Given the description of an element on the screen output the (x, y) to click on. 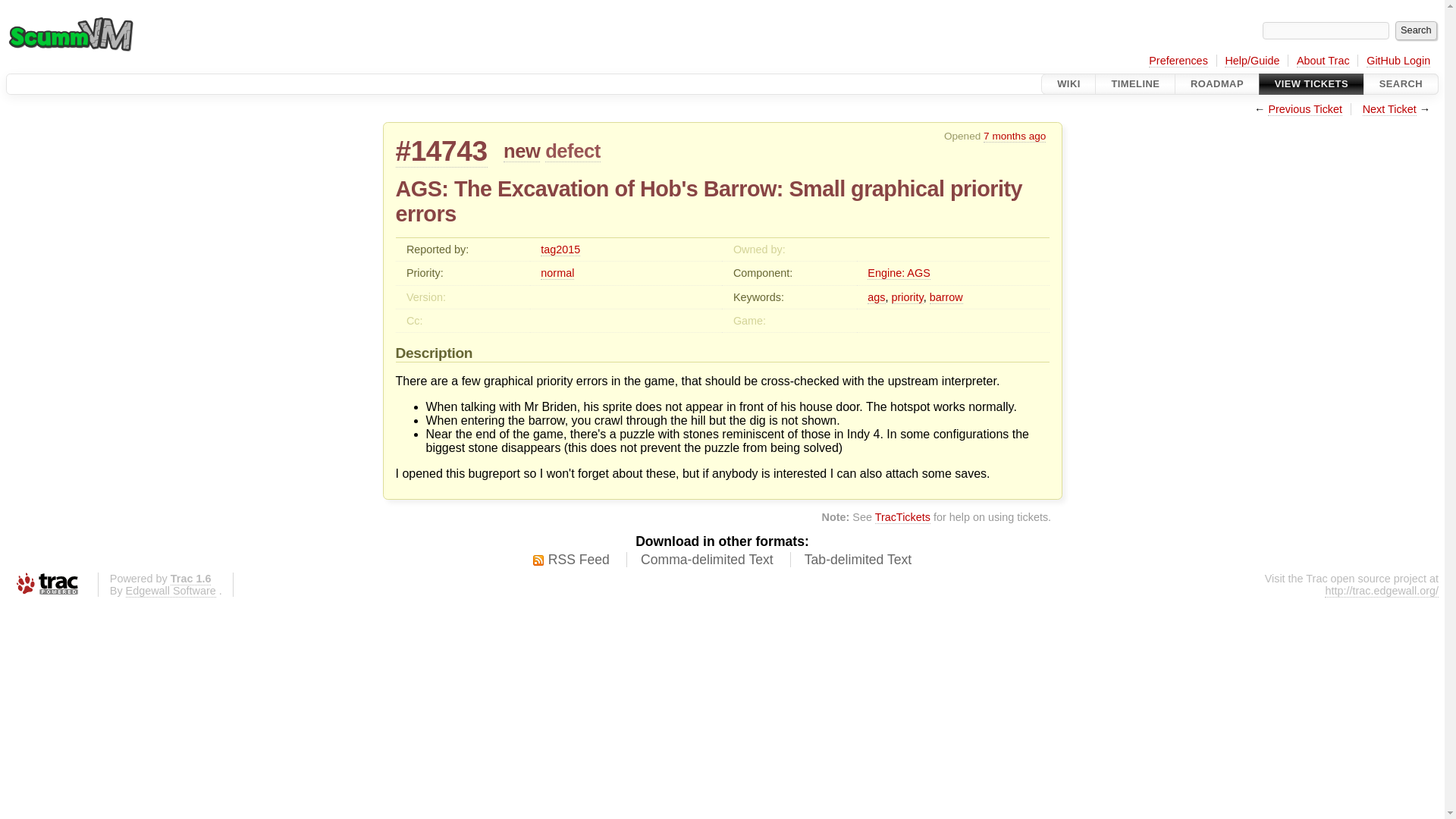
RSS Feed (571, 560)
normal (556, 273)
tag2015 (559, 249)
GitHub Login (1398, 60)
new (521, 151)
defect (571, 151)
VIEW TICKETS (1310, 84)
Comma-delimited Text (706, 560)
7 months ago (1014, 136)
About Trac (1323, 60)
Next Ticket (1389, 109)
Previous Ticket (1305, 109)
Trac 1.6 (190, 578)
ags (876, 297)
priority (907, 297)
